Given the description of an element on the screen output the (x, y) to click on. 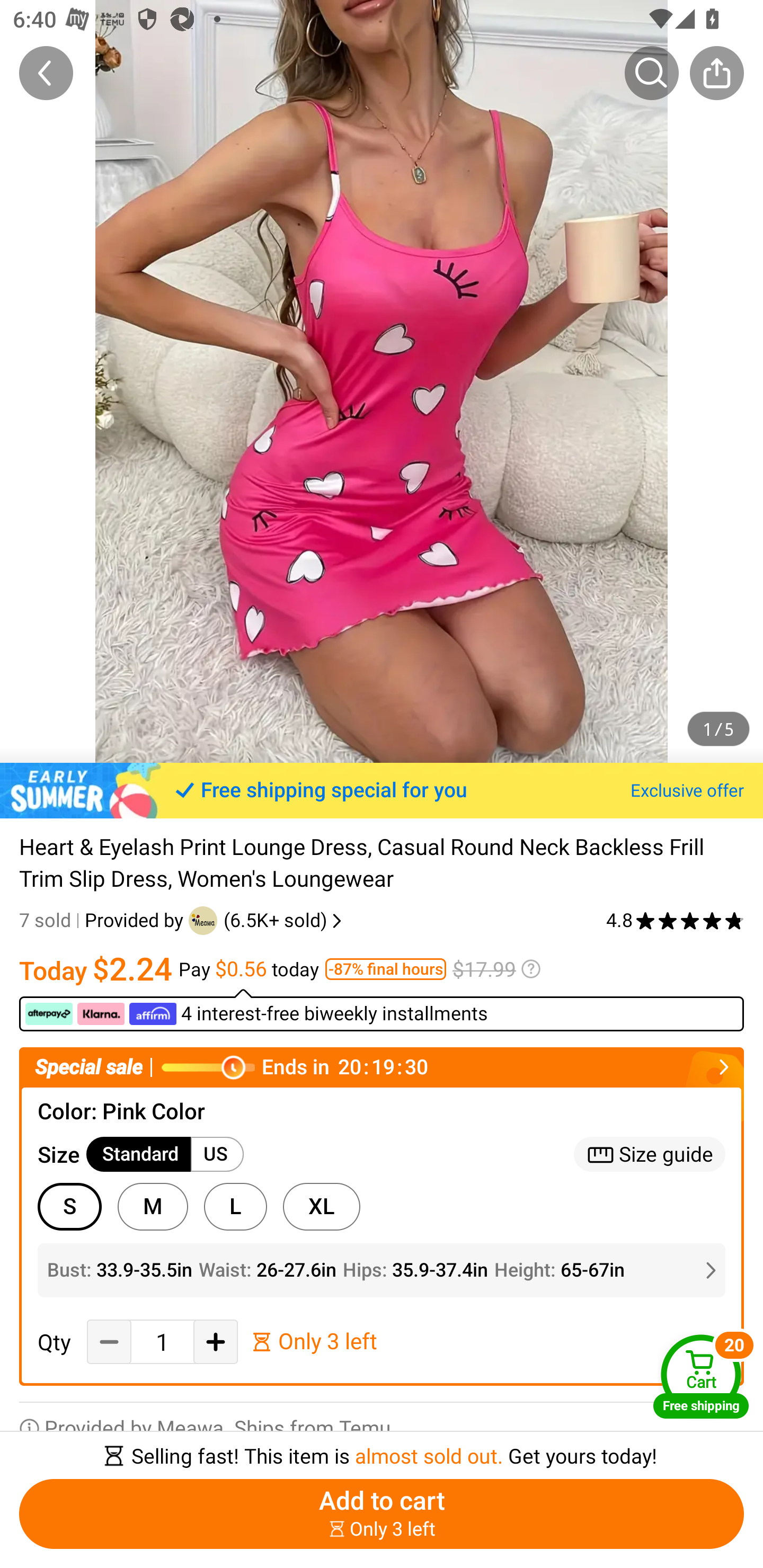
Back (46, 72)
Share (716, 72)
Free shipping special for you Exclusive offer (381, 790)
7 sold Provided by  (103, 920)
4.8 (674, 920)
￼ ￼ ￼ 4 interest-free biweekly installments (381, 1009)
Special sale Ends in￼￼ (381, 1067)
Standard (138, 1153)
US (216, 1153)
 Size guide (649, 1153)
S (69, 1206)
M (152, 1206)
L (235, 1206)
XL (321, 1206)
Decrease Quantity Button (108, 1342)
Add Quantity button (215, 1342)
1 (162, 1342)
Cart Free shipping Cart (701, 1375)
Add to cart ￼￼Only 3 left (381, 1513)
